Given the description of an element on the screen output the (x, y) to click on. 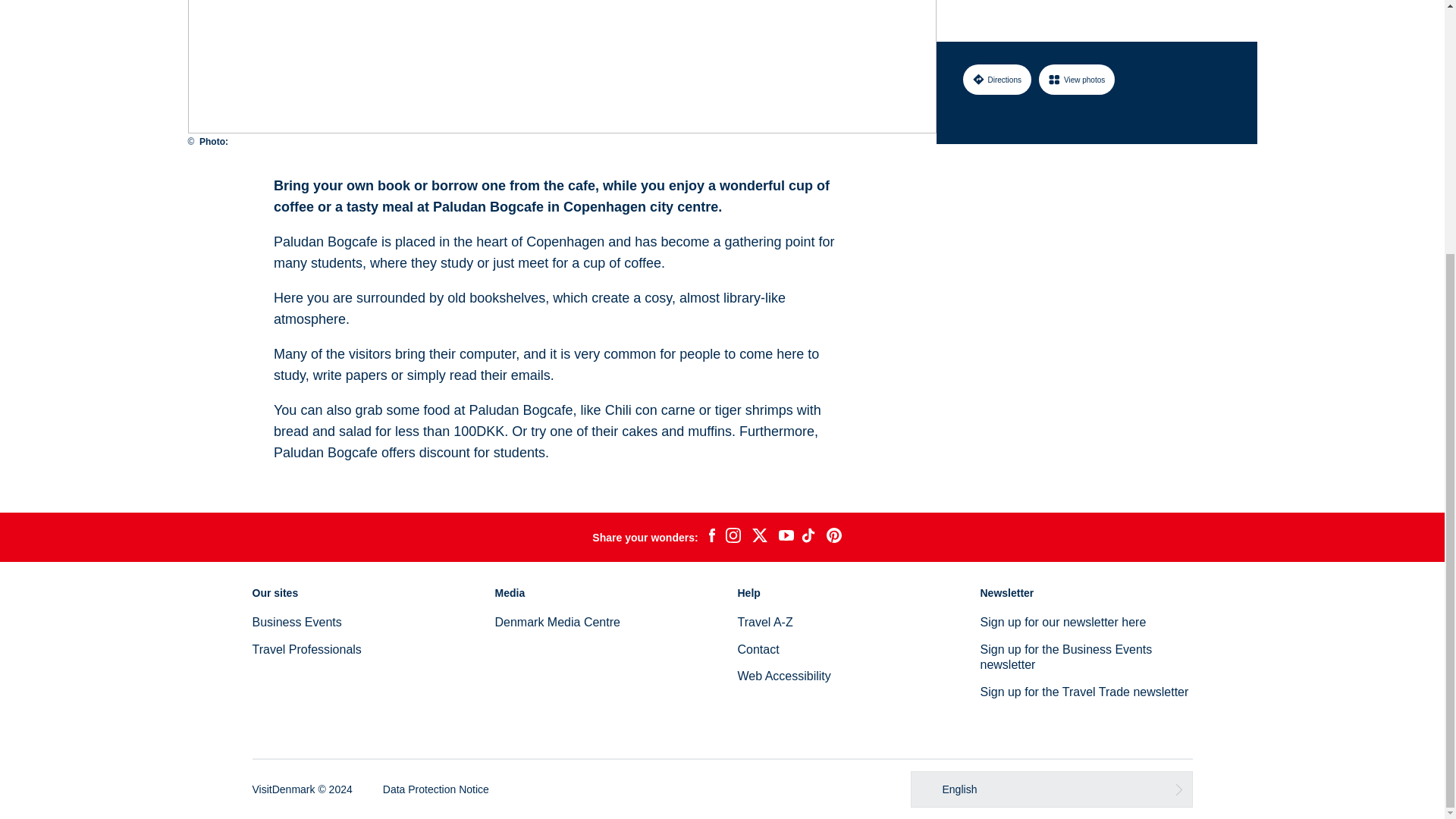
Travel Professionals (306, 649)
Denmark Media Centre (557, 621)
Contact (757, 649)
Sign up for the Travel Trade newsletter (1083, 691)
Travel Professionals (306, 649)
Denmark Media Centre (557, 621)
Data Protection Notice (435, 789)
Data Protection Notice (435, 789)
Sign up for our newsletter here (1062, 621)
youtube (786, 537)
